Given the description of an element on the screen output the (x, y) to click on. 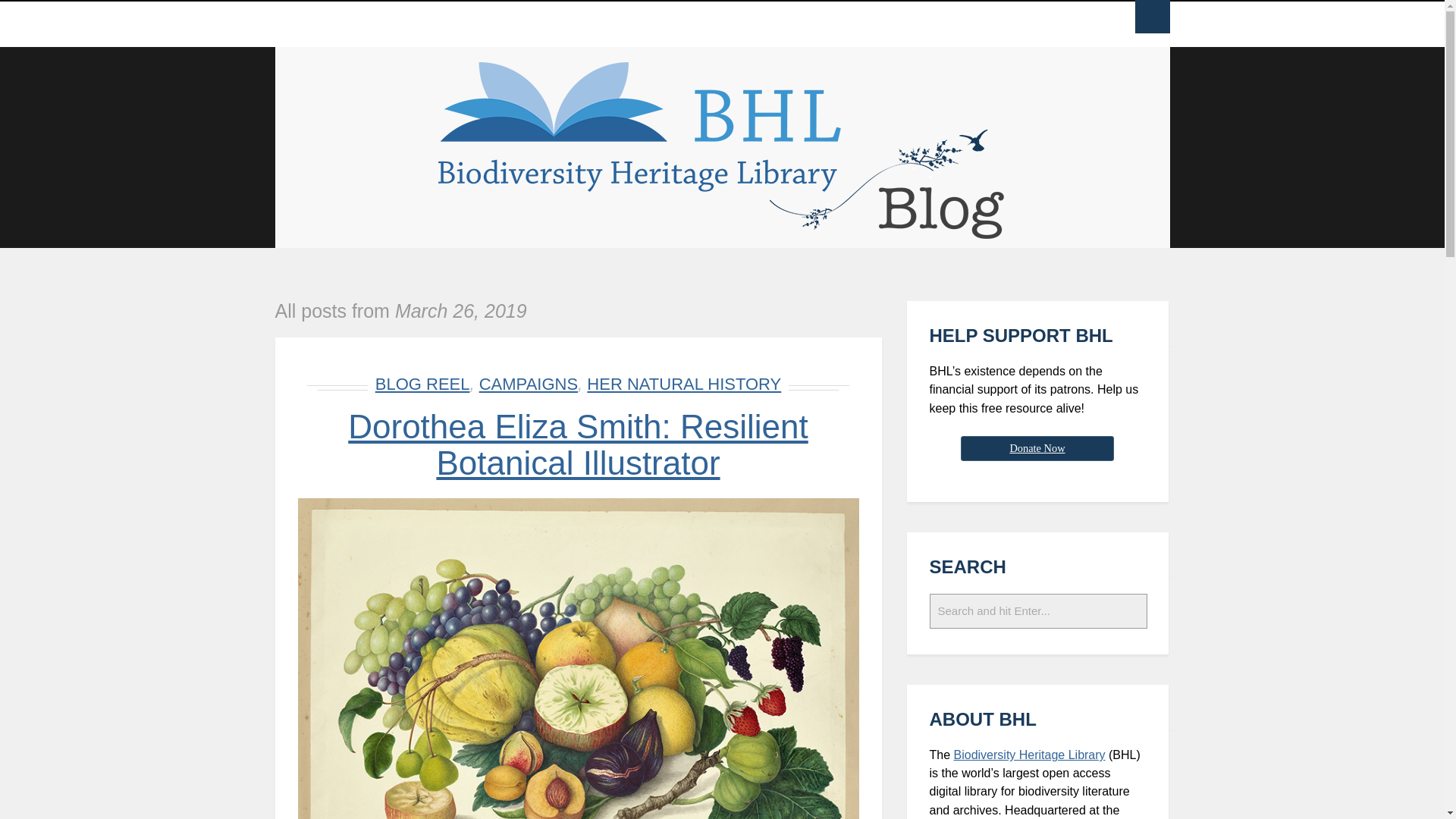
USER STORIES (569, 23)
HOME (298, 23)
NEWS (352, 23)
FEATURED BOOKS (448, 23)
CAMPAIGNS (670, 23)
Search and hit Enter... (1039, 610)
